Given the description of an element on the screen output the (x, y) to click on. 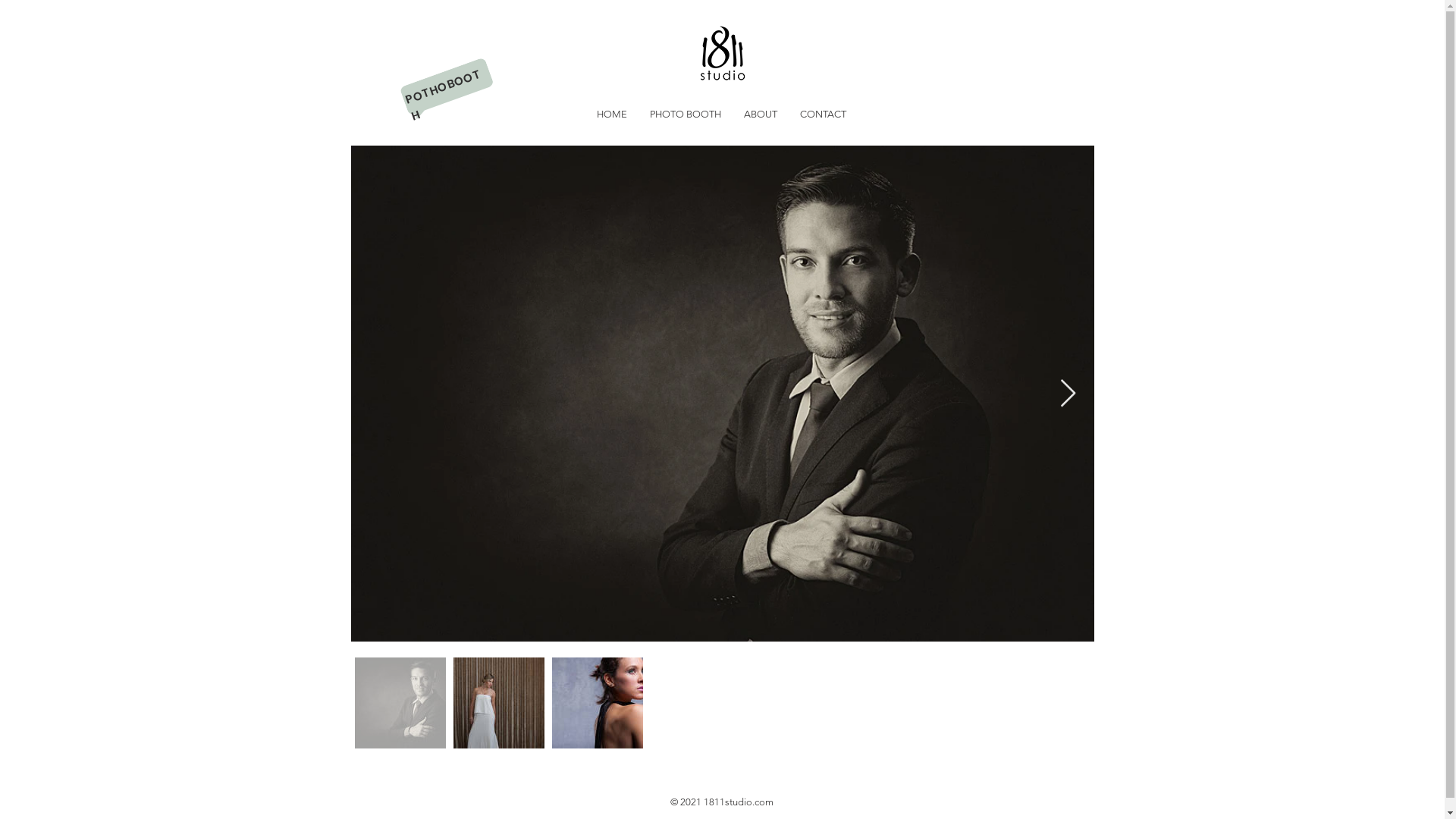
ABOUT Element type: text (760, 114)
PHOTO BOOTH Element type: text (685, 114)
CONTACT Element type: text (822, 114)
1811-studio-logo-clear.png Element type: hover (721, 53)
HOME Element type: text (611, 114)
POTHOBOOTH Element type: text (442, 81)
